Given the description of an element on the screen output the (x, y) to click on. 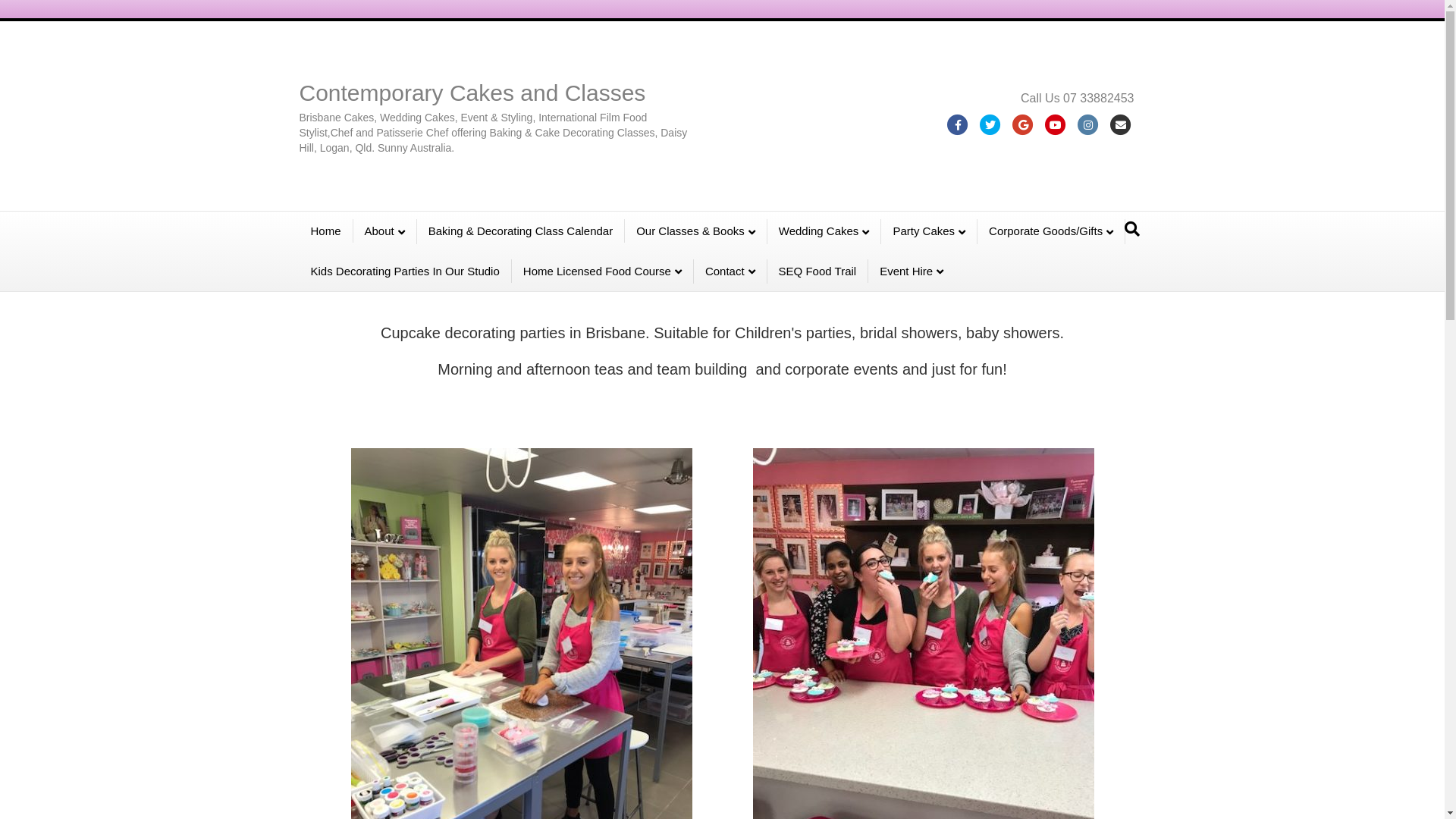
Twitter Element type: text (989, 124)
Email Element type: text (1120, 124)
Home Licensed Food Course Element type: text (602, 271)
Corporate Goods/Gifts Element type: text (1051, 231)
Facebook Element type: text (957, 124)
About Element type: text (385, 231)
Event Hire Element type: text (911, 271)
Kids Decorating Parties In Our Studio Element type: text (404, 270)
Baking & Decorating Class Calendar Element type: text (520, 230)
SEQ Food Trail Element type: text (818, 270)
Wedding Cakes Element type: text (824, 231)
Home Element type: text (325, 230)
Contemporary Cakes and Classes Element type: text (498, 92)
Google Element type: text (1023, 124)
Youtube Element type: text (1054, 124)
Party Cakes Element type: text (929, 231)
Instagram Element type: text (1088, 124)
Contact Element type: text (730, 271)
Our Classes & Books Element type: text (695, 231)
